Given the description of an element on the screen output the (x, y) to click on. 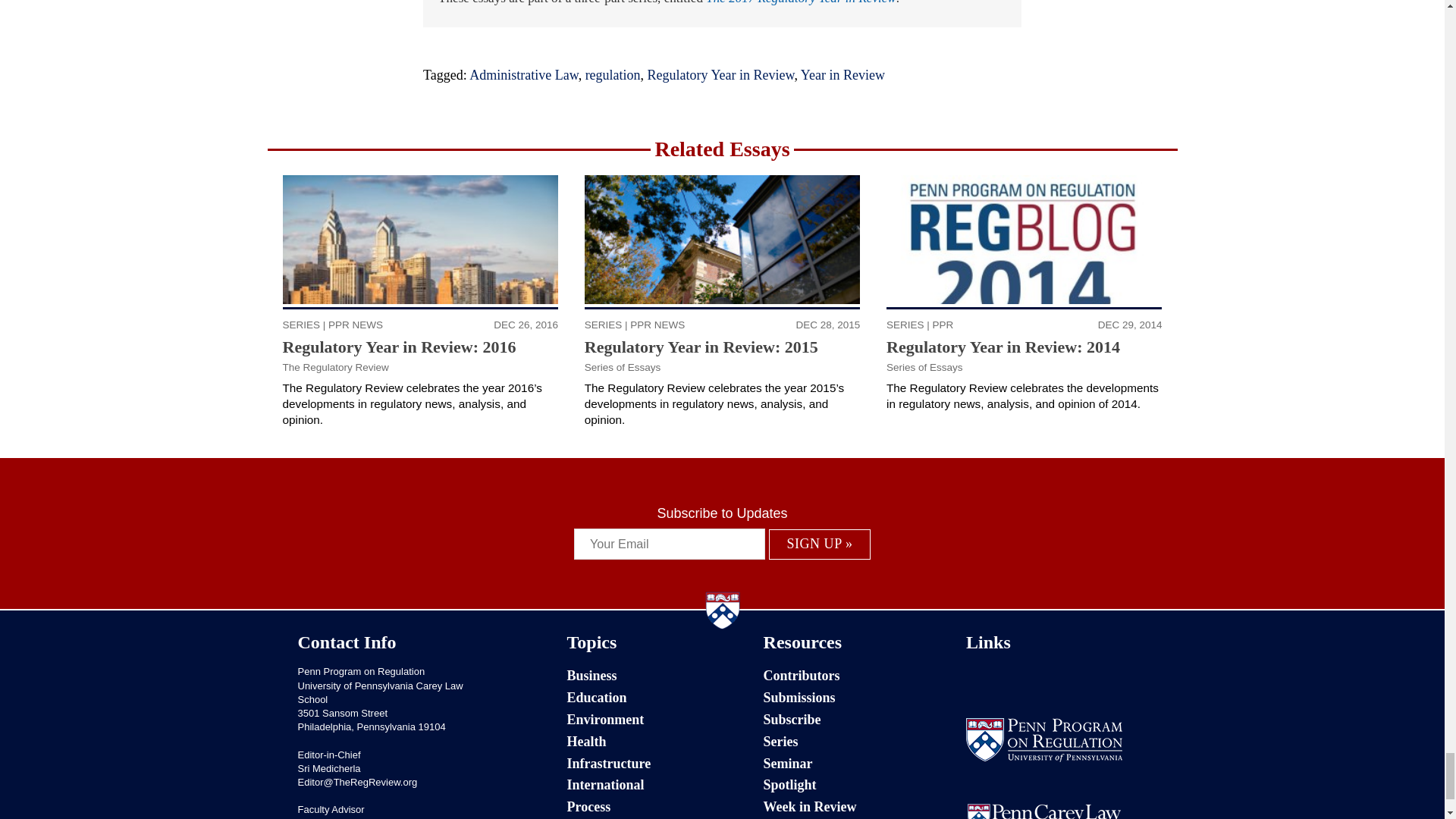
Posts by The Regulatory Review (335, 367)
Posts by Series of Essays (924, 367)
Posts by Series of Essays (623, 367)
